Given the description of an element on the screen output the (x, y) to click on. 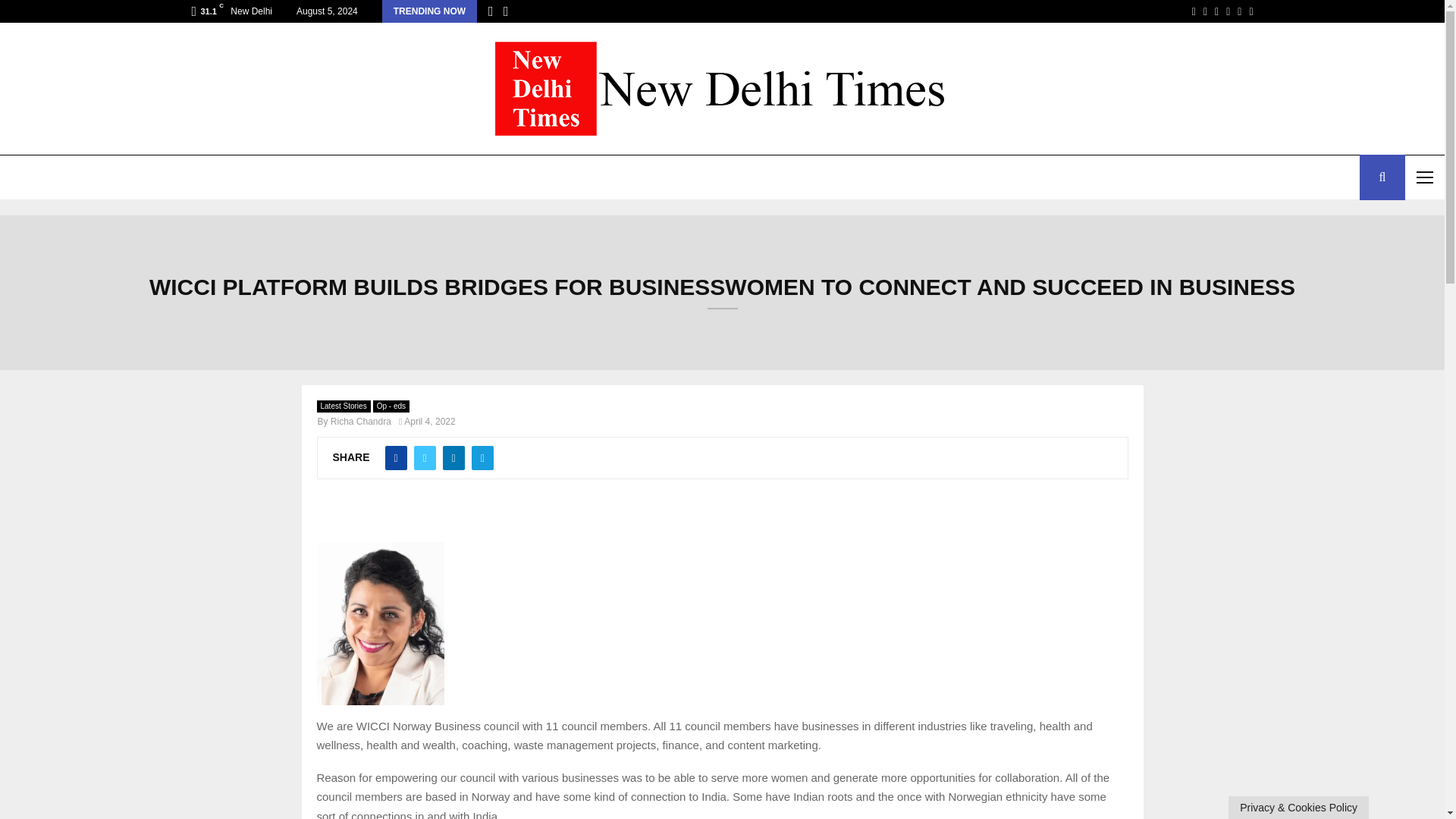
SPORTS (283, 176)
WORLD (148, 176)
LATEST STORIES (56, 176)
